Given the description of an element on the screen output the (x, y) to click on. 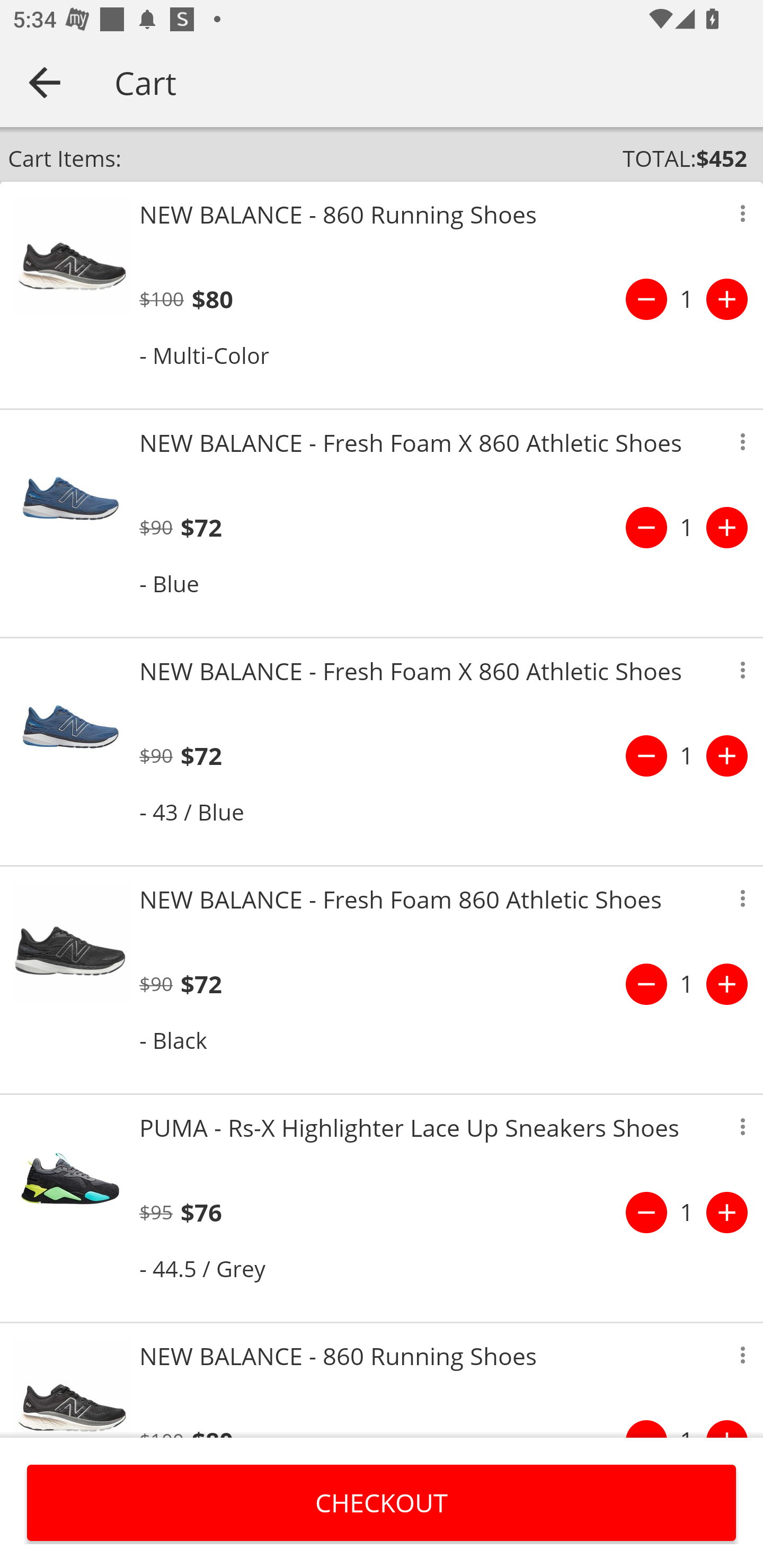
Navigate up (44, 82)
1 (686, 299)
1 (686, 527)
1 (686, 755)
1 (686, 984)
1 (686, 1211)
NEW BALANCE - 860 Running Shoes $100 $80 1 (381, 1380)
CHECKOUT (381, 1502)
